Given the description of an element on the screen output the (x, y) to click on. 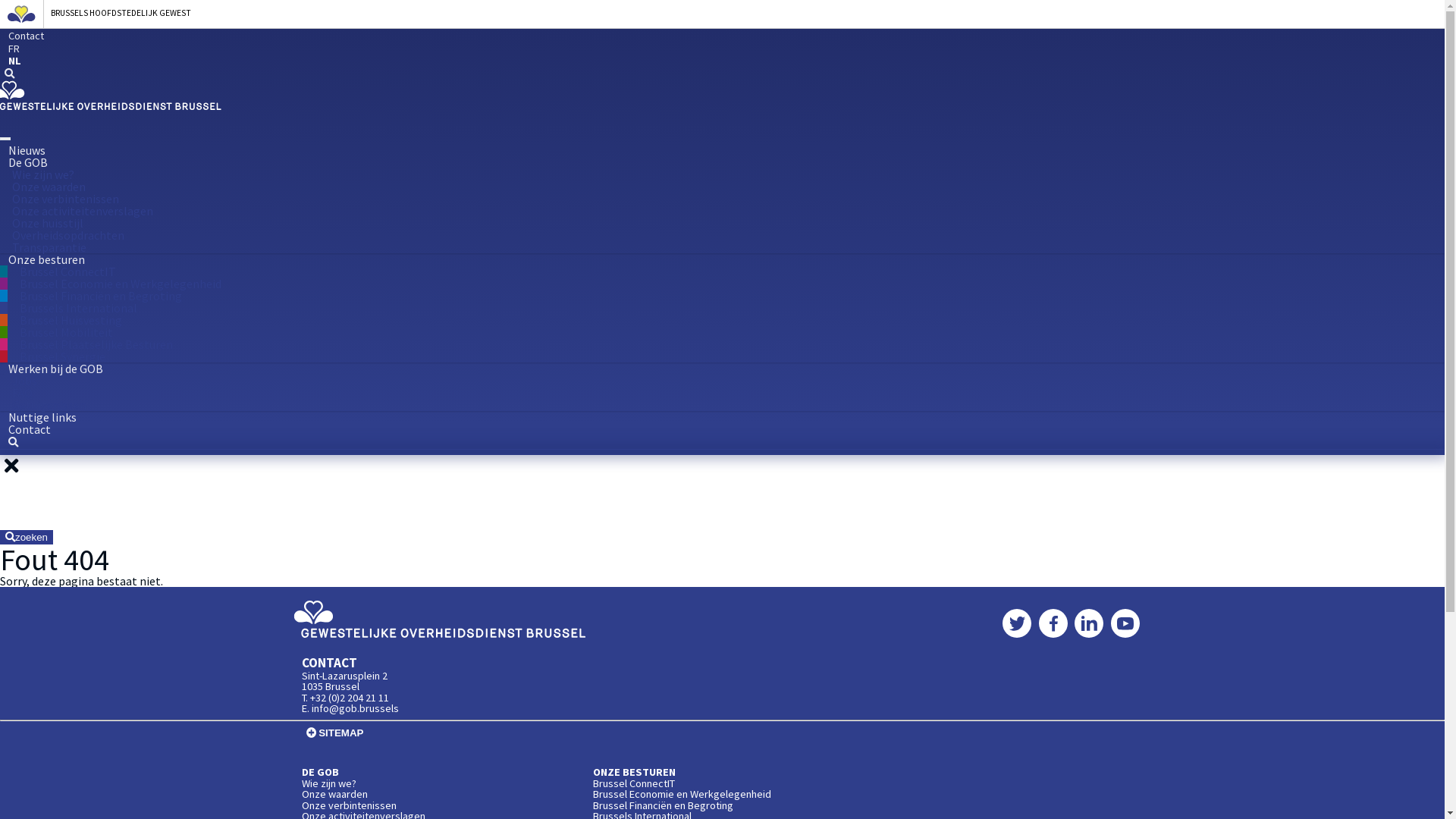
YouTube Element type: text (1124, 622)
zoeken Element type: text (9, 73)
Brussel Economie en Werkgelegenheid Element type: text (120, 283)
Gewestelijke Overheidsdienst Brussel Element type: hover (439, 618)
Brussels International Element type: text (78, 307)
Brussel Synergie Element type: text (62, 356)
ONZE BESTUREN Element type: text (634, 771)
DE GOB Element type: text (319, 771)
Werken bij de GOB Element type: text (55, 368)
Nieuws Element type: text (26, 149)
Logo Facebook Element type: hover (1052, 622)
Facebook Element type: text (1052, 622)
SITEMAP Element type: text (334, 732)
LinkedIn Element type: text (1088, 622)
Overheidsopdrachten Element type: text (68, 234)
FAQ Element type: text (22, 392)
FR Element type: text (14, 49)
Onze waarden Element type: text (48, 186)
Brussel Economie en Werkgelegenheid Element type: text (682, 793)
Onze activiteitenverslagen Element type: text (82, 210)
Brussel Huisvesting Element type: text (70, 319)
Jobs Element type: text (24, 380)
Wie zijn we? Element type: text (328, 783)
Twitter Element type: text (1016, 622)
Gewestelijke Overheidsdienst Brussel Element type: text (439, 633)
Onze waarden Element type: text (334, 793)
Logo Twitter Element type: hover (1016, 622)
Onze besturen Element type: text (46, 258)
E. info@gob.brussels Element type: text (349, 708)
Brussel ConnectIT Element type: text (67, 271)
zoeken Element type: text (26, 537)
Transparantie Element type: text (49, 246)
Onze verbintenissen Element type: text (65, 198)
zoeken Element type: text (11, 442)
BRUSSELS HOOFDSTEDELIJK GEWEST Element type: text (716, 14)
Logo Youtube Element type: hover (1124, 622)
Logo LinkedIn Element type: hover (1088, 622)
Nuttige links Element type: text (42, 416)
Onze huisstijl Element type: text (47, 222)
zoeken Element type: hover (722, 503)
Brussel Mobiliteit Element type: text (66, 331)
Wie zijn we? Element type: text (43, 174)
Onze verbintenissen Element type: text (348, 805)
Getuigenissen Element type: text (49, 404)
Contact Element type: text (29, 428)
De GOB Element type: text (28, 161)
Contact Element type: text (26, 36)
Brussel ConnectIT Element type: text (633, 783)
Brussel Plaatselijke Besturen Element type: text (96, 344)
NL Element type: text (14, 61)
